Given the description of an element on the screen output the (x, y) to click on. 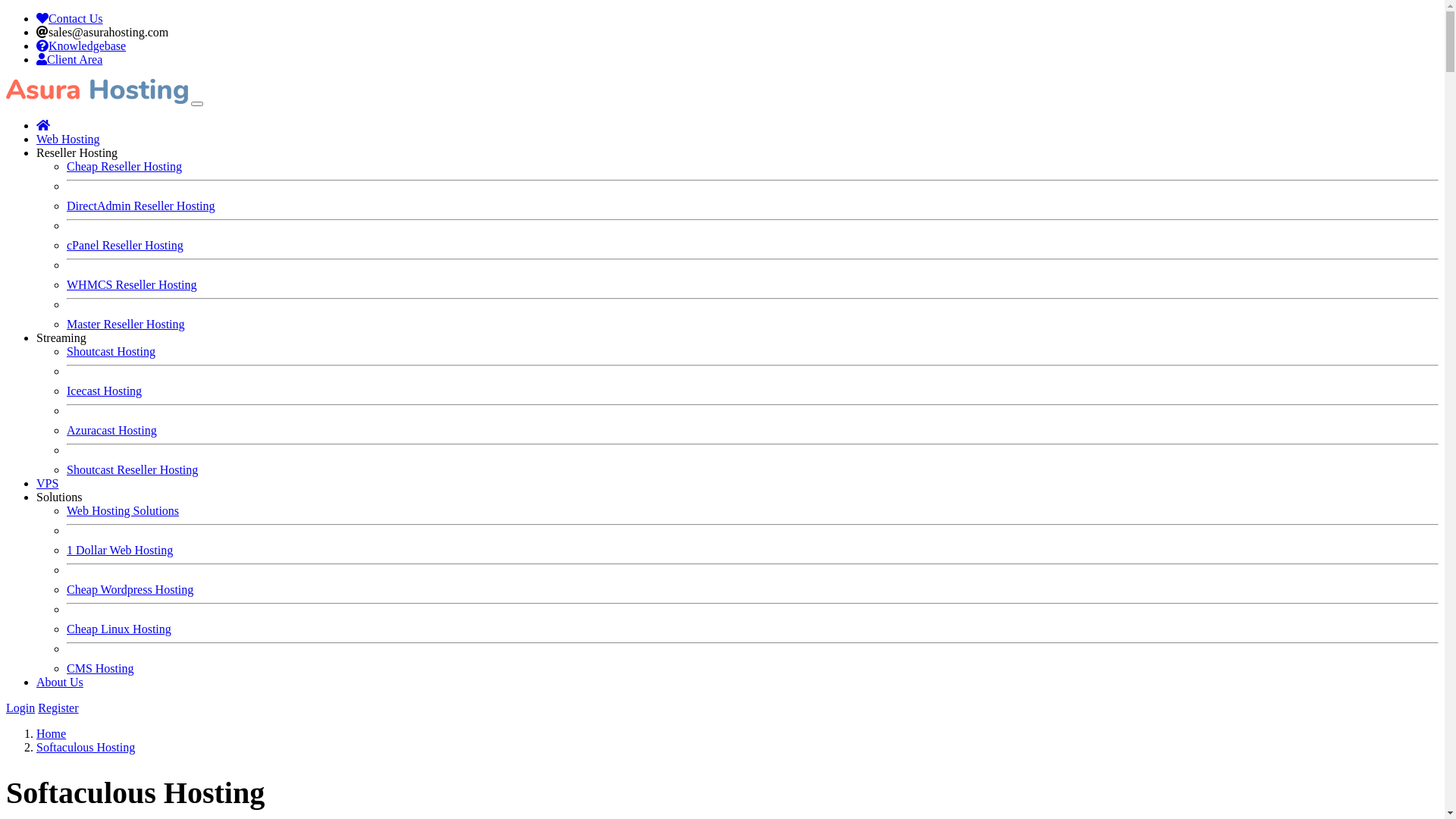
Client Area Element type: text (69, 59)
Cheap Linux Hosting Element type: text (118, 628)
Master Reseller Hosting Element type: text (125, 323)
Reseller Hosting Element type: text (76, 152)
Streaming Element type: text (61, 337)
Cheap Wordpress Hosting Element type: text (129, 589)
Knowledgebase Element type: text (80, 45)
WHMCS Reseller Hosting Element type: text (131, 284)
Web Hosting Element type: text (68, 138)
Home Element type: text (50, 733)
Solutions Element type: text (58, 496)
Shoutcast Reseller Hosting Element type: text (131, 469)
Shoutcast Hosting Element type: text (110, 351)
Azuracast Hosting Element type: text (111, 429)
Web Hosting Solutions Element type: text (122, 510)
Contact Us Element type: text (69, 18)
Icecast Hosting Element type: text (103, 390)
Cheap Reseller Hosting Element type: text (124, 166)
About Us Element type: text (59, 681)
Register Element type: text (57, 707)
DirectAdmin Reseller Hosting Element type: text (140, 205)
VPS Element type: text (47, 482)
sales@asurahosting.com Element type: text (102, 31)
cPanel Reseller Hosting Element type: text (124, 244)
Softaculous Hosting Element type: text (85, 746)
CMS Hosting Element type: text (99, 668)
Login Element type: text (20, 707)
1 Dollar Web Hosting Element type: text (119, 549)
